Given the description of an element on the screen output the (x, y) to click on. 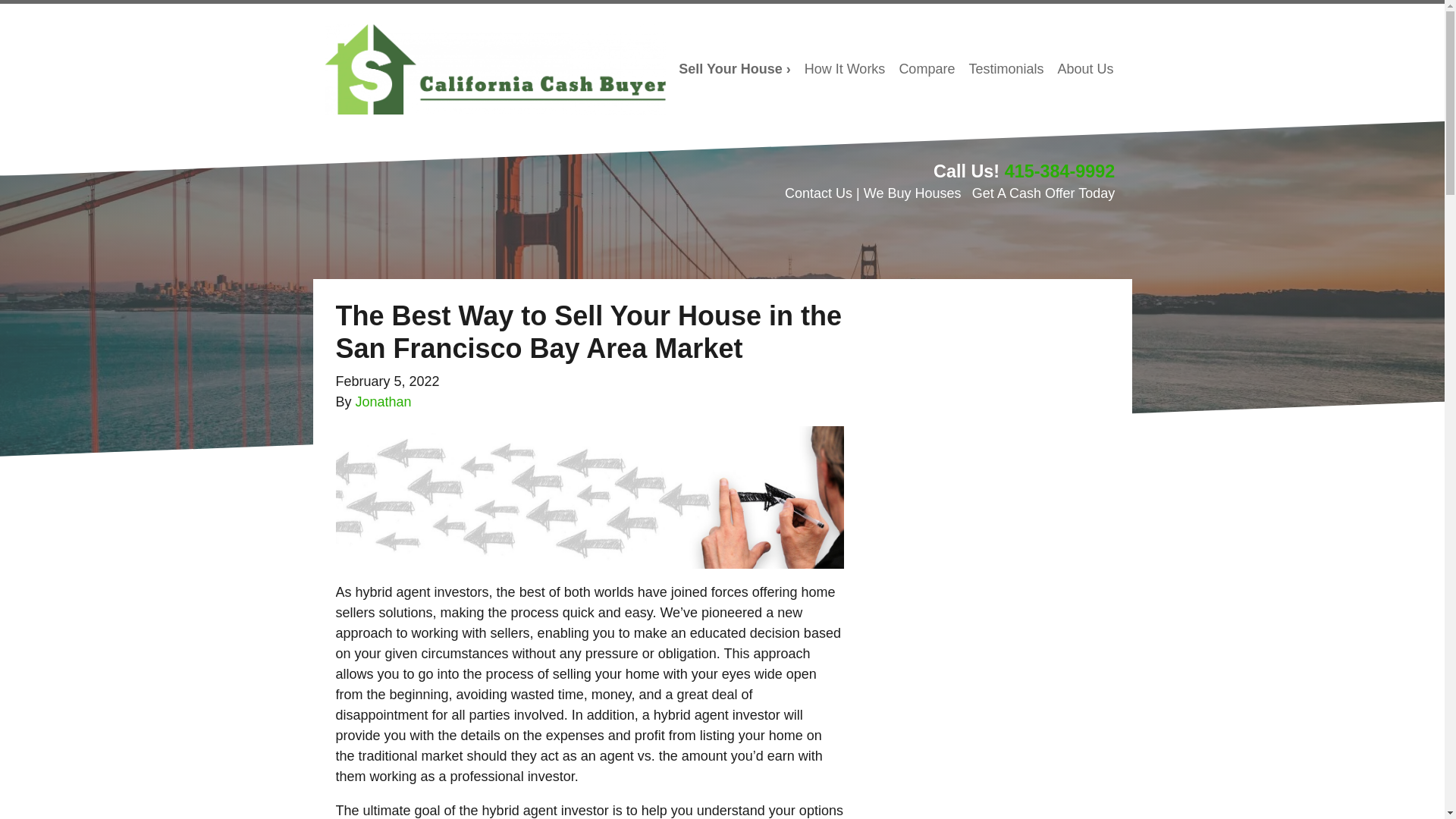
Compare (925, 69)
How It Works (844, 69)
How It Works (844, 69)
Compare (925, 69)
About Us (1084, 69)
Get A Cash Offer Today (1043, 192)
About Us (1084, 69)
Jonathan (383, 401)
415-384-9992 (1059, 170)
Testimonials (1004, 69)
Testimonials (1004, 69)
